Given the description of an element on the screen output the (x, y) to click on. 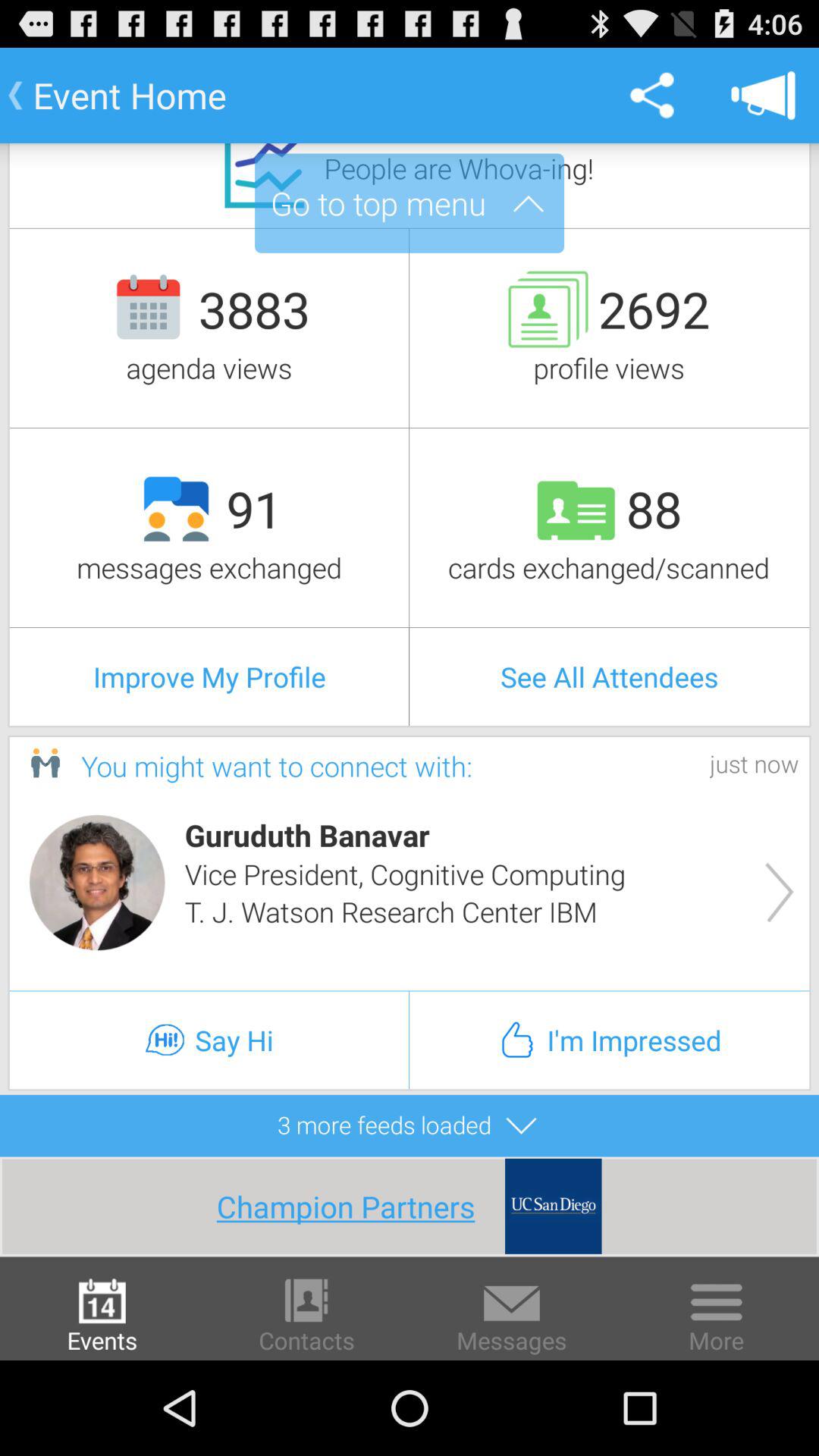
click the improve my profile item (208, 676)
